Given the description of an element on the screen output the (x, y) to click on. 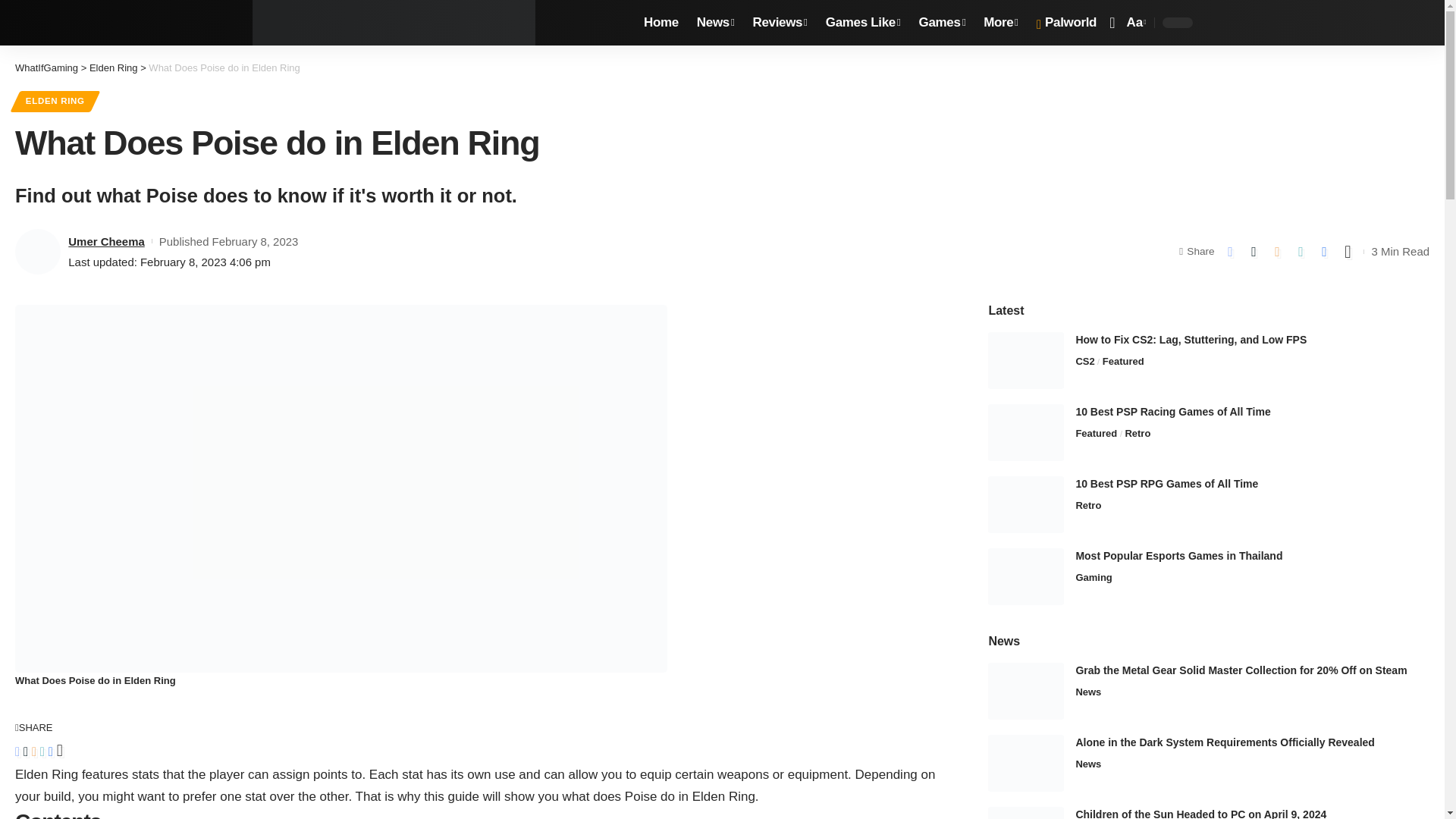
Go to the Elden Ring Category archives. (113, 67)
Go to WhatIfGaming. (46, 67)
WhatIfGaming (393, 22)
Games Like (863, 22)
Reviews (780, 22)
10 Best PSP Racing Games of All Time (1026, 432)
Games (942, 22)
News (715, 22)
Home (660, 22)
How to Fix CS2: Lag, Stuttering, and Low FPS (1026, 360)
